Given the description of an element on the screen output the (x, y) to click on. 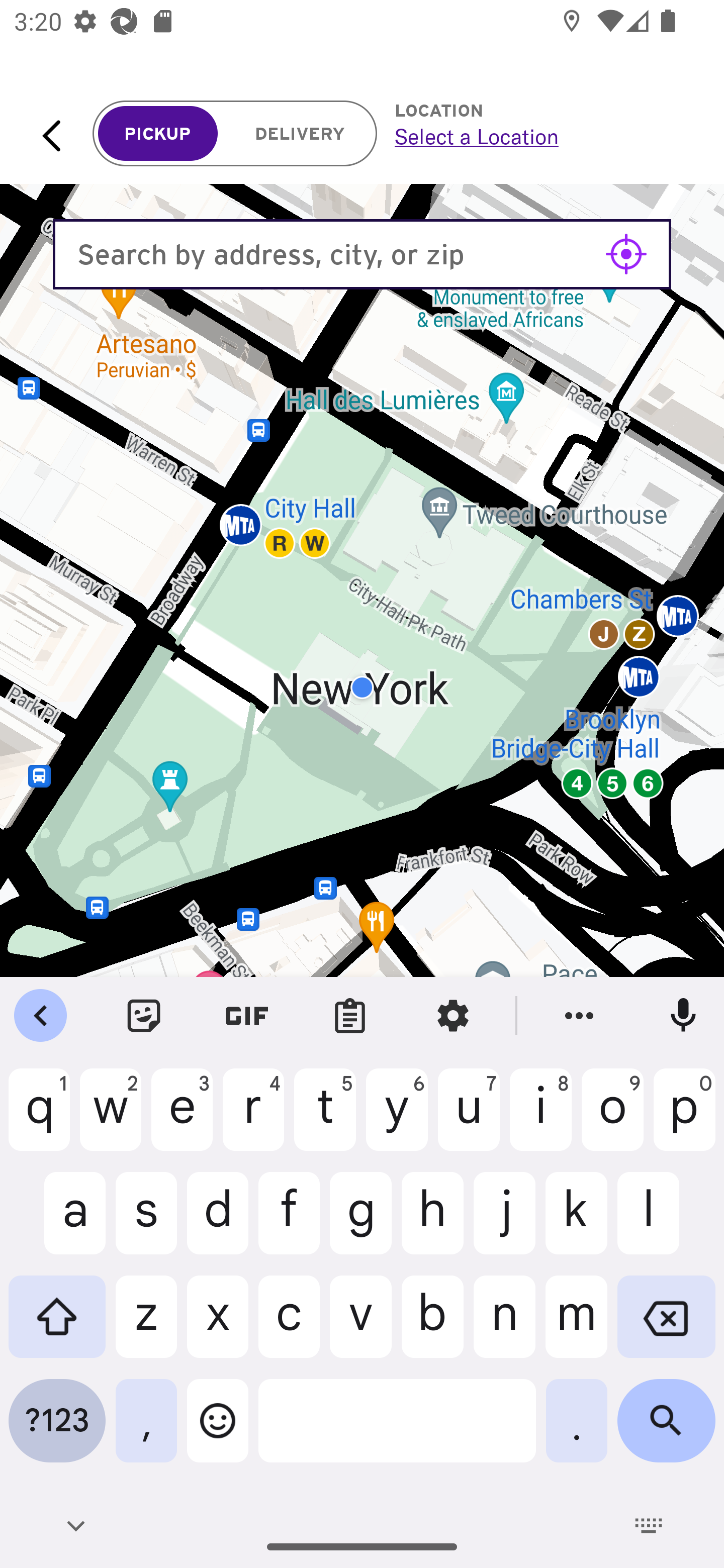
PICKUP (157, 133)
DELIVERY (299, 133)
Select a Location (536, 136)
Search by address, city, or zip (361, 254)
